Given the description of an element on the screen output the (x, y) to click on. 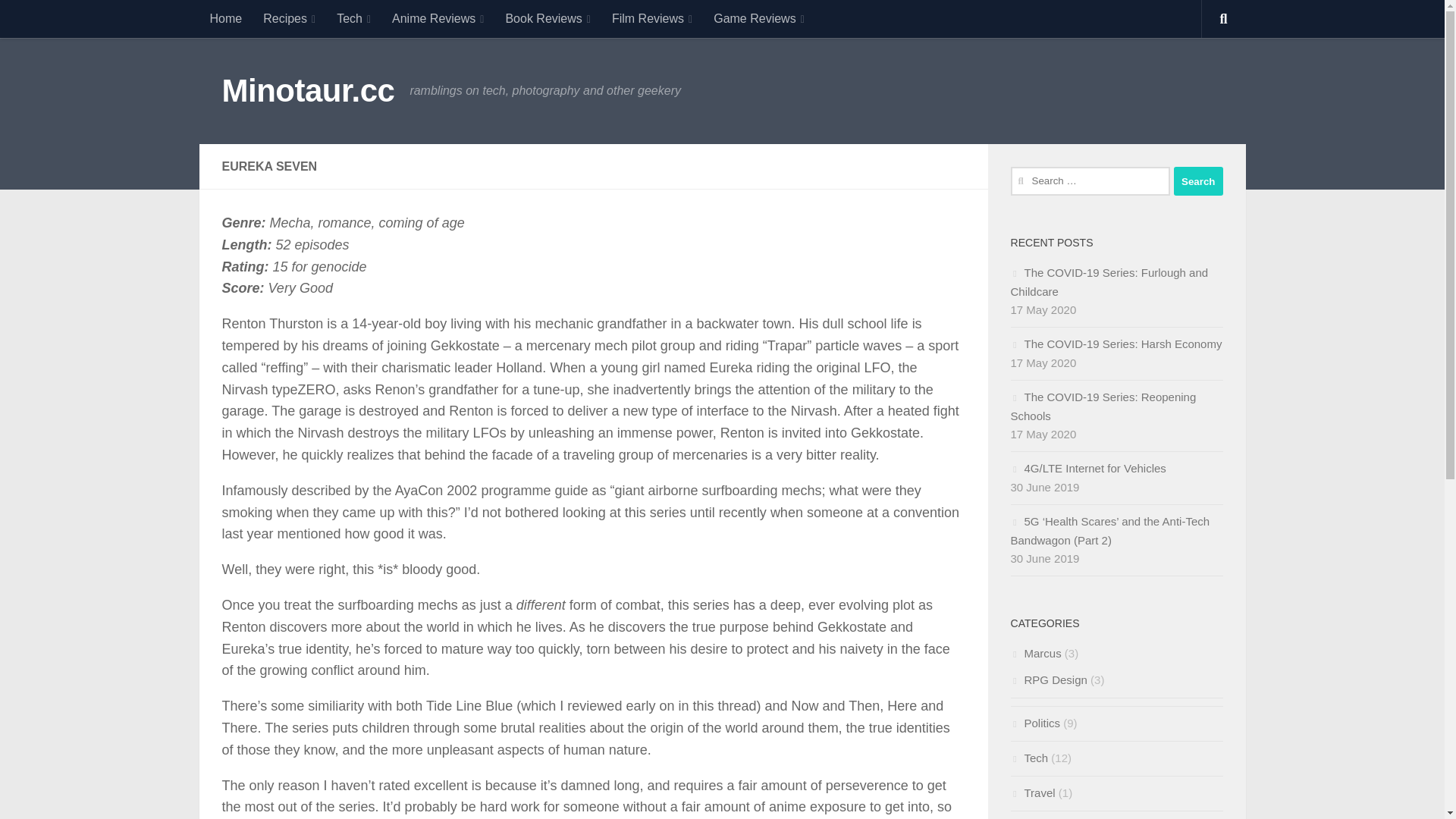
Skip to content (63, 20)
Search (1198, 181)
Anime Reviews (438, 18)
Recipes (288, 18)
Tech (353, 18)
Home (224, 18)
Search (1198, 181)
